Given the description of an element on the screen output the (x, y) to click on. 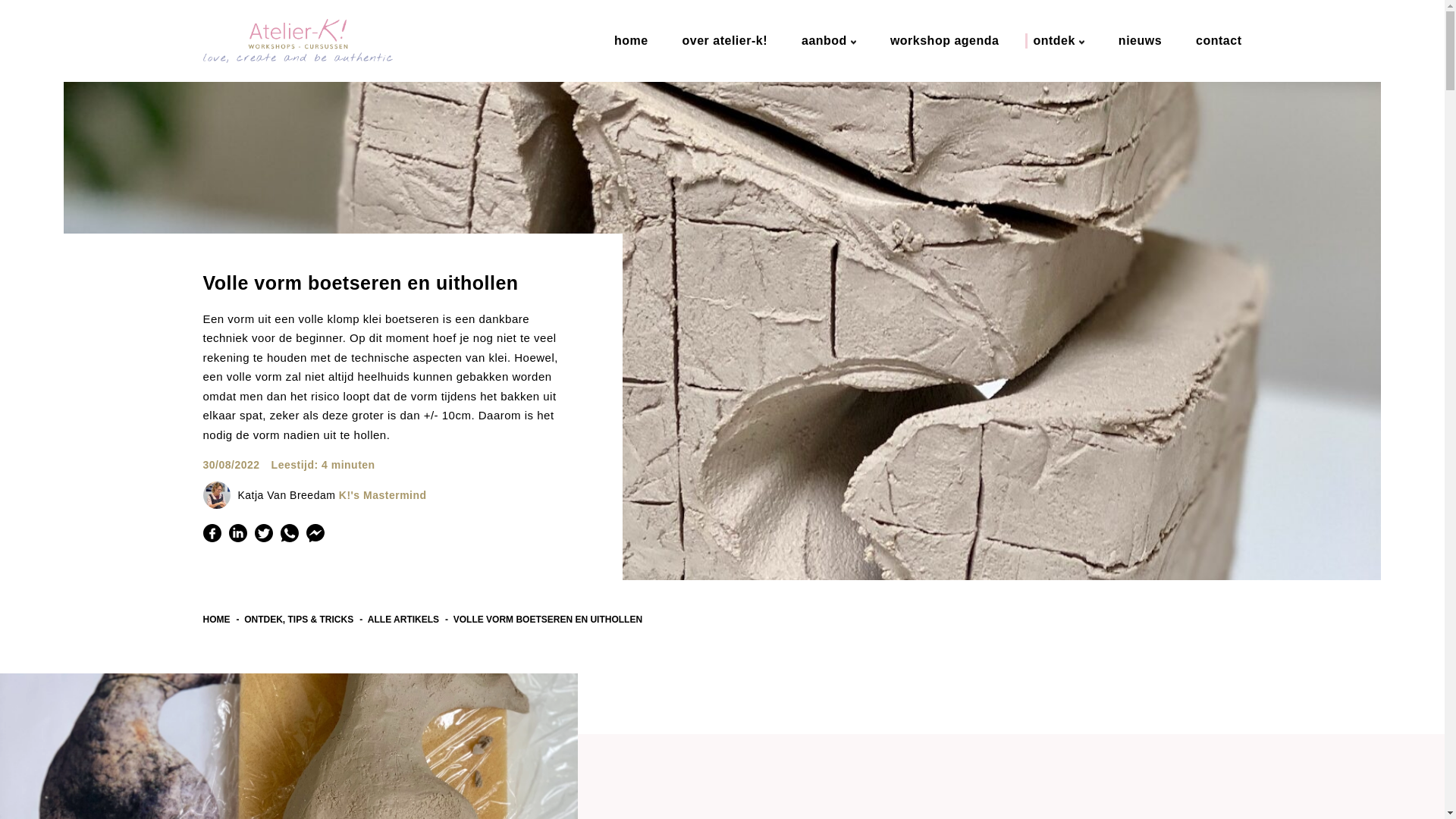
aanbod Element type: text (824, 40)
ontdek Element type: text (1054, 40)
over atelier-k! Element type: text (720, 40)
Deel dit artikel op Facebook Element type: hover (212, 533)
ALLE ARTIKELS Element type: text (407, 619)
Deel dit artikel op LinkedIn Element type: hover (238, 533)
workshop agenda Element type: text (940, 40)
contact Element type: text (1214, 40)
ONTDEK, TIPS & TRICKS Element type: text (303, 619)
nieuws Element type: text (1135, 40)
Deel dit artikel op Whatsapp Element type: hover (289, 533)
HOME Element type: text (221, 619)
Deel dit artikel op Messenger Element type: hover (315, 533)
Deel dit artikel op Twitter Element type: hover (263, 533)
home Element type: text (627, 40)
VOLLE VORM BOETSEREN EN UITHOLLEN Element type: text (547, 619)
